Given the description of an element on the screen output the (x, y) to click on. 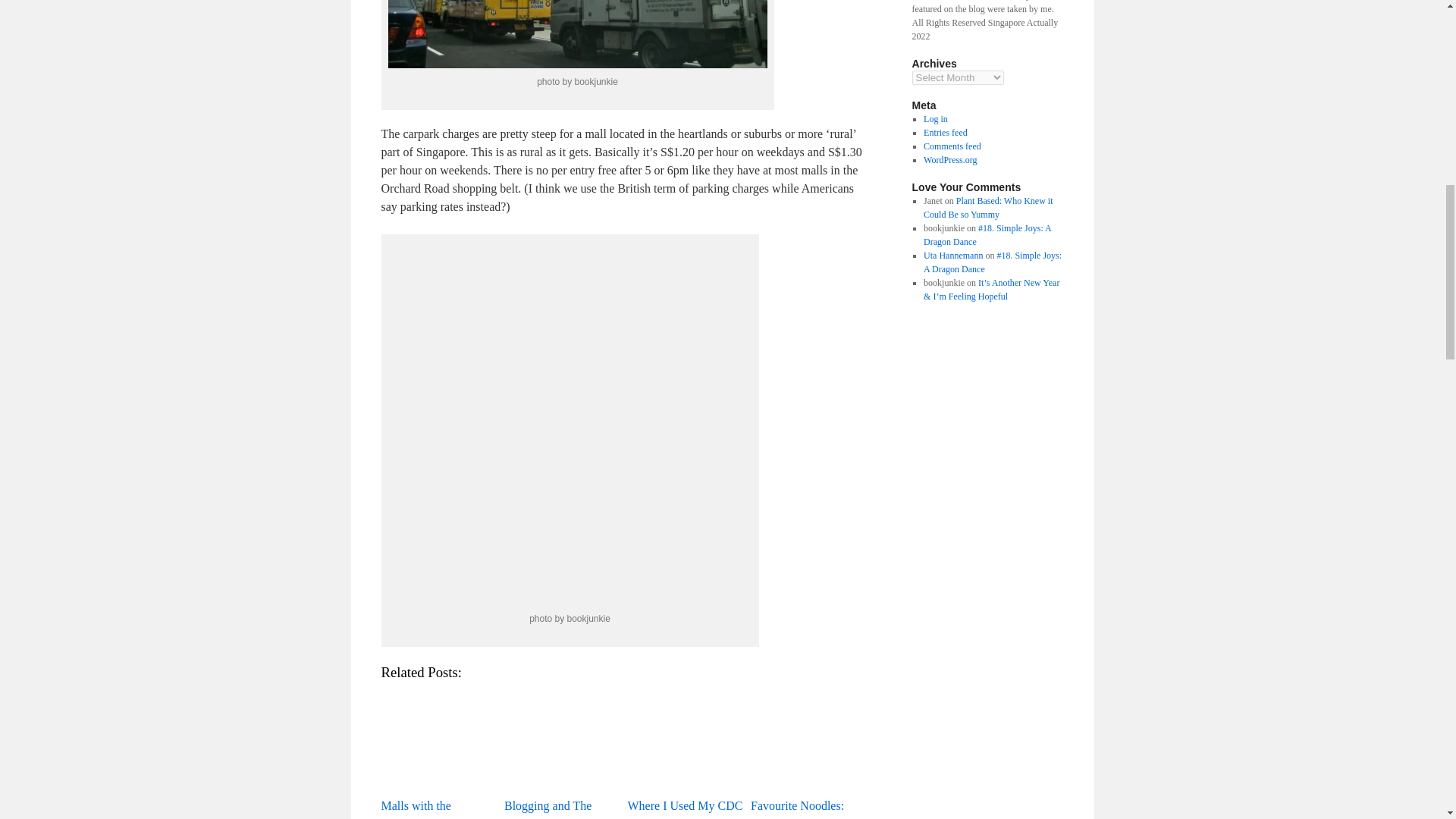
Favourite Noodles: Kok Kee Wanton Mee (808, 751)
Favourite Noodles: Kok Kee Wanton Mee (807, 739)
Blogging and The Search Engine Optimisation Trap (561, 739)
nexdecfb12 (570, 422)
nexdecfb11 (577, 33)
Blogging and The Search Engine Optimisation Trap (561, 751)
